Given the description of an element on the screen output the (x, y) to click on. 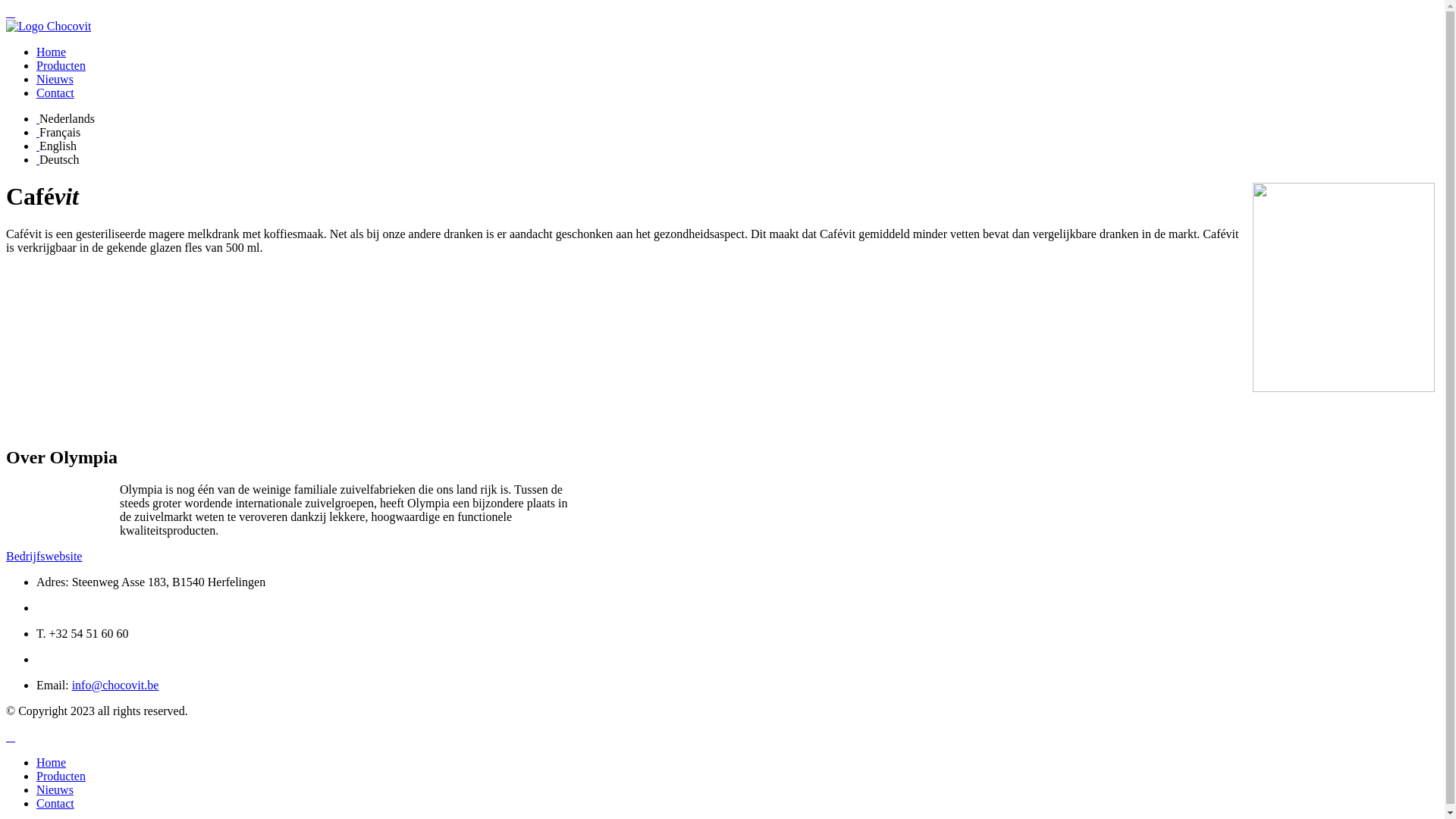
Home Element type: text (50, 51)
  Element type: text (37, 131)
Contact Element type: text (55, 92)
    Element type: text (10, 736)
Producten Element type: text (60, 65)
  Element type: text (37, 145)
Nieuws Element type: text (54, 78)
  Element type: text (37, 118)
Producten Element type: text (60, 775)
Bedrijfswebsite Element type: text (43, 555)
    Element type: text (10, 12)
info@chocovit.be Element type: text (115, 684)
Nieuws Element type: text (54, 789)
  Element type: text (37, 159)
Contact Element type: text (55, 803)
Home Element type: text (50, 762)
